Given the description of an element on the screen output the (x, y) to click on. 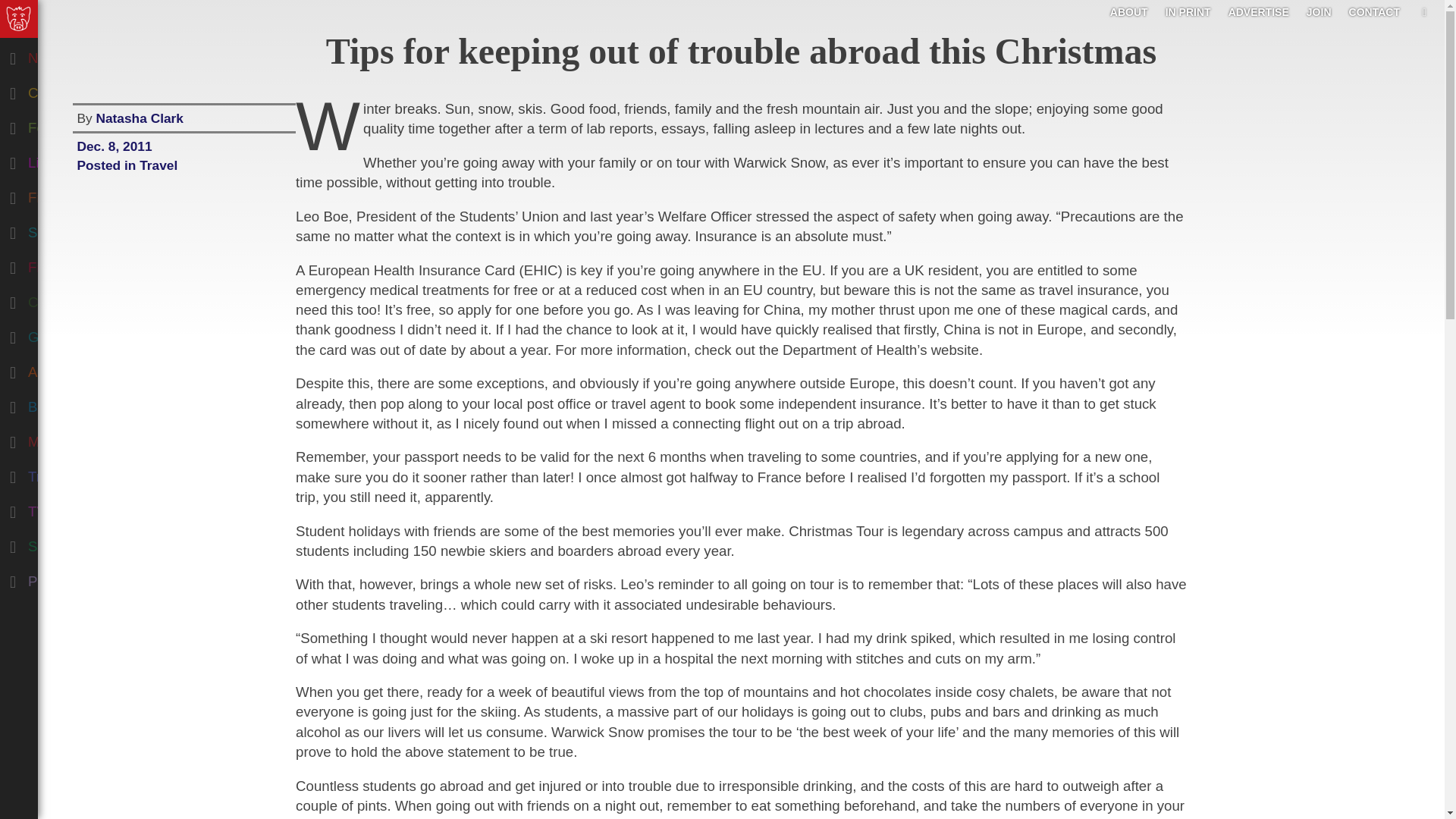
Games (79, 334)
Tips for keeping out of trouble abroad this Christmas (741, 51)
ADVERTISE (1258, 11)
Dec. 8, 2011 (183, 144)
ABOUT (1128, 11)
Comment (79, 89)
Travel (79, 473)
JOIN (1319, 11)
Natasha Clark (139, 118)
Podcasts (79, 578)
